Given the description of an element on the screen output the (x, y) to click on. 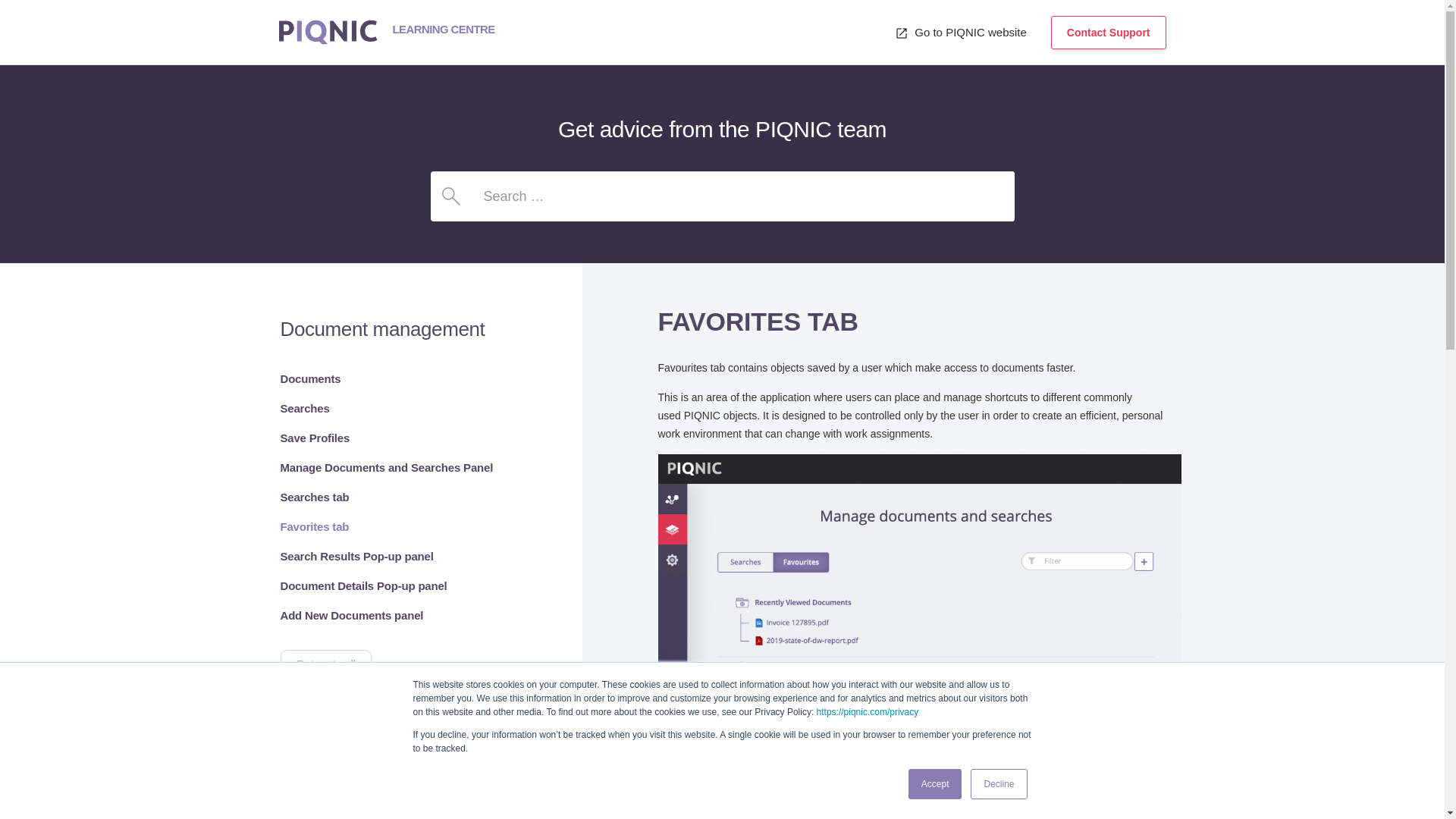
Searches (305, 408)
Return to all (326, 664)
Add New Documents panel (352, 615)
Documents (310, 378)
Document Details Pop-up panel (363, 585)
Save Profiles (315, 437)
Search Results Pop-up panel (357, 555)
Favorites tab (315, 526)
Accept (935, 784)
Contact Support (1108, 31)
Go to PIQNIC website (960, 31)
Manage Documents and Searches Panel (387, 467)
Decline (998, 784)
Searches tab (315, 496)
